Given the description of an element on the screen output the (x, y) to click on. 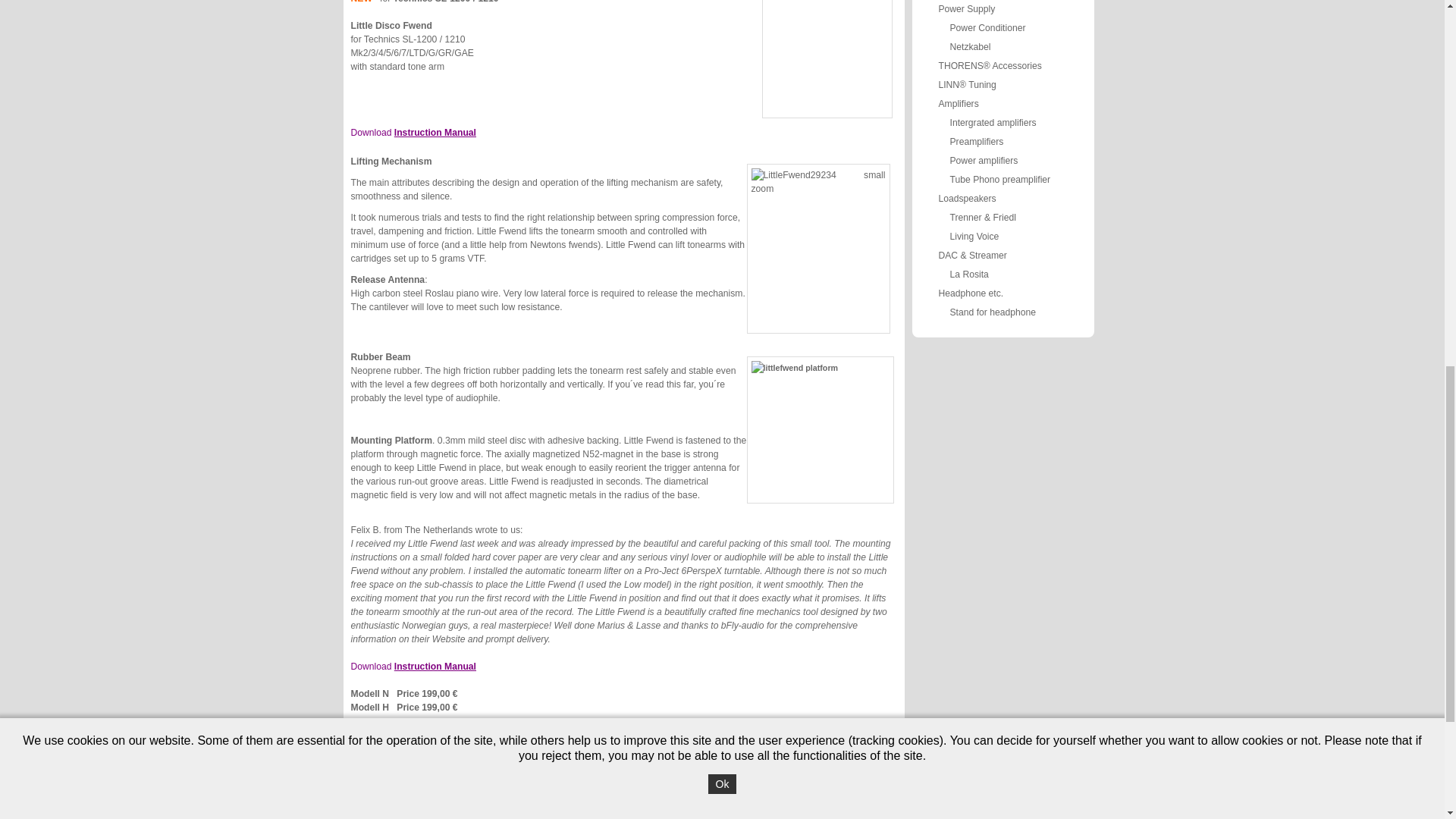
LINE Absorber online kaufen (395, 783)
Instruction Manual Little Fwend (435, 132)
Instruction Manual Little Fwend (435, 665)
